Given the description of an element on the screen output the (x, y) to click on. 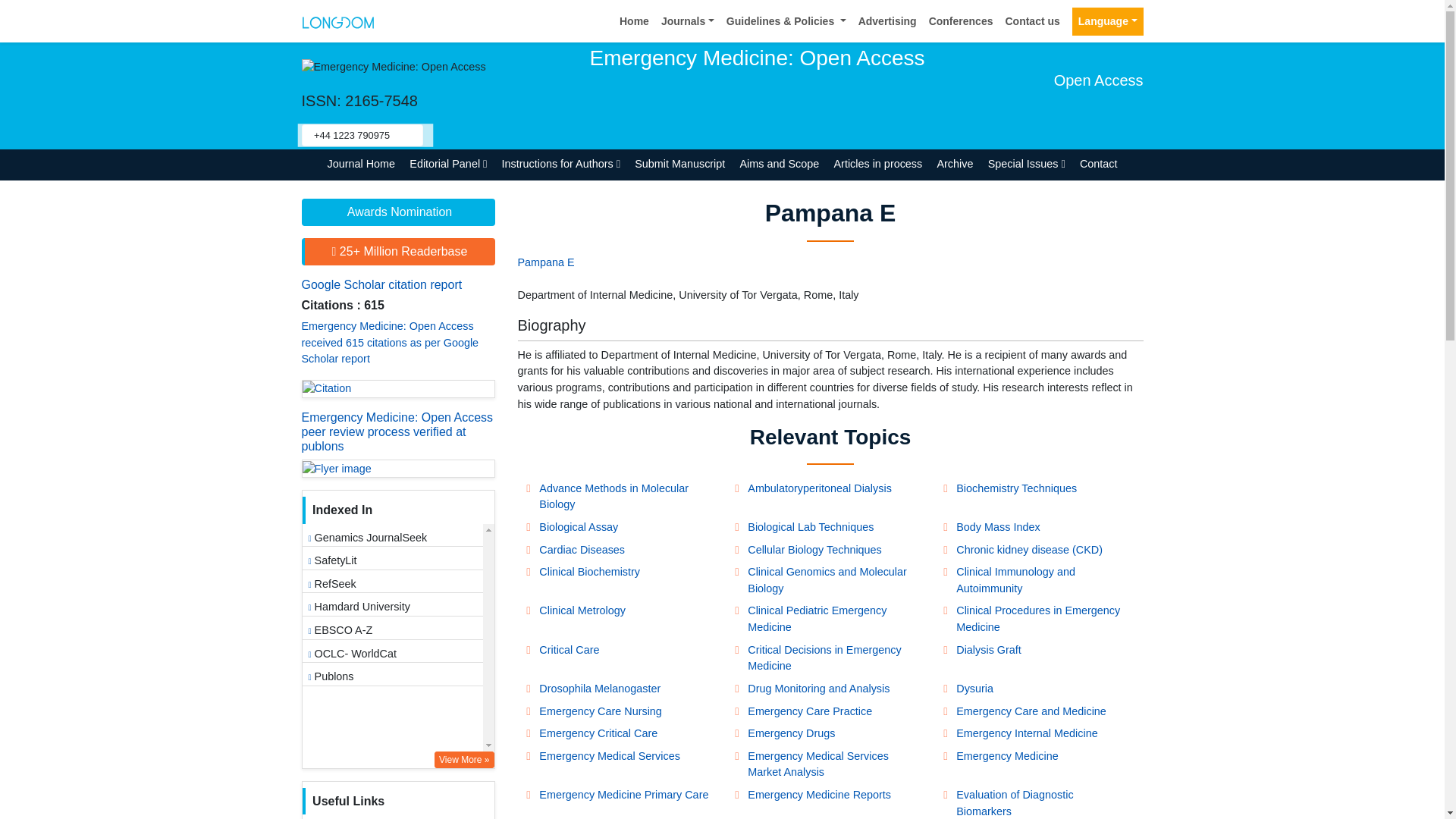
Archive (954, 164)
Advertising (887, 21)
Home (633, 21)
Articles in process (878, 164)
Contact us (1031, 21)
Longdom Publishing S.L (337, 20)
Contact us (1031, 21)
Journals (687, 21)
Conferences (960, 21)
Editorial Panel (449, 164)
